Given the description of an element on the screen output the (x, y) to click on. 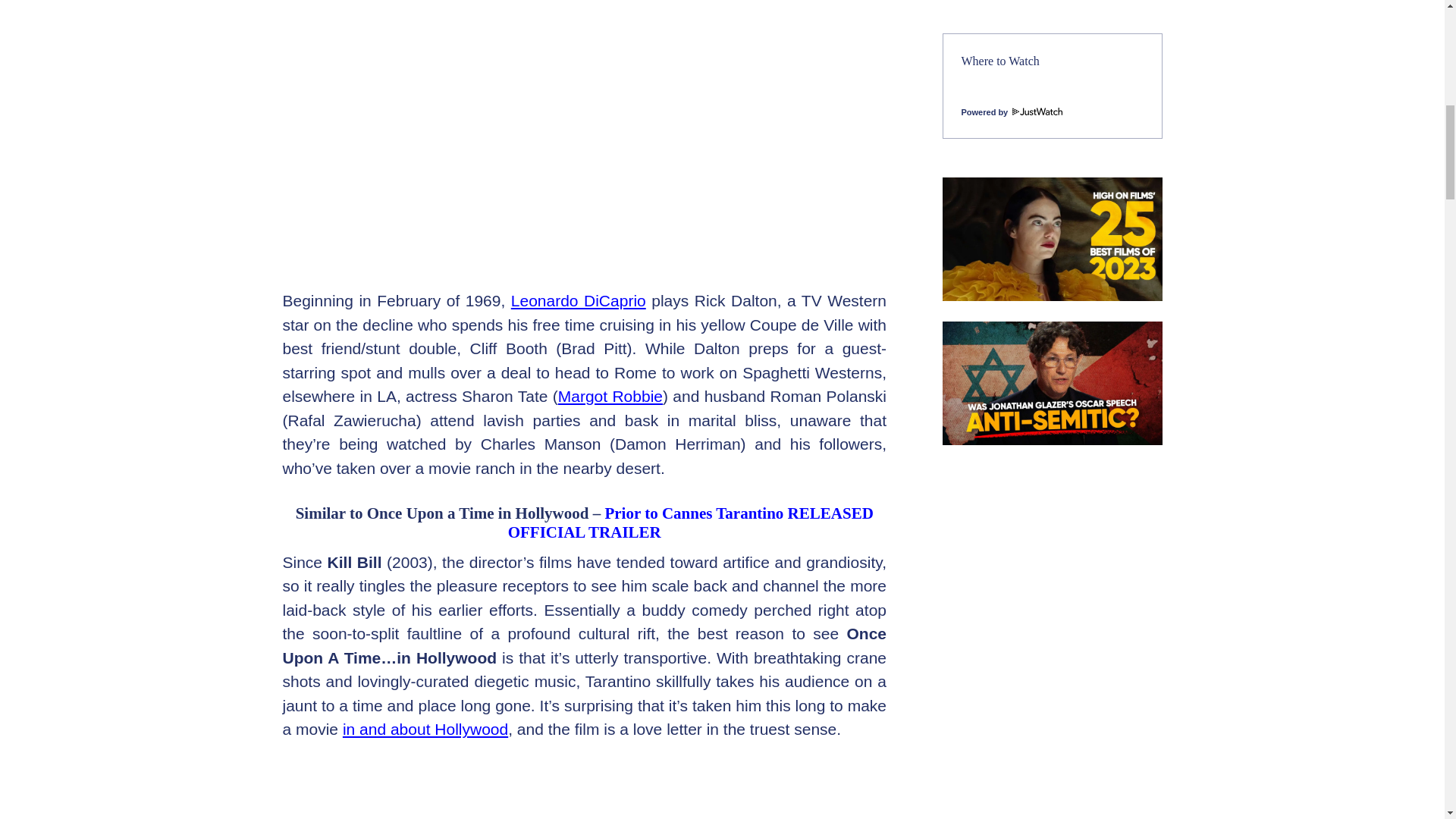
in and about Hollywood (425, 728)
Margot Robbie (609, 395)
Prior to Cannes Tarantino RELEASED OFFICIAL TRAILER (690, 522)
Margot Robbie (609, 395)
Leonardo DiCaprio (578, 300)
Leonardo DiCaprio (578, 300)
